Given the description of an element on the screen output the (x, y) to click on. 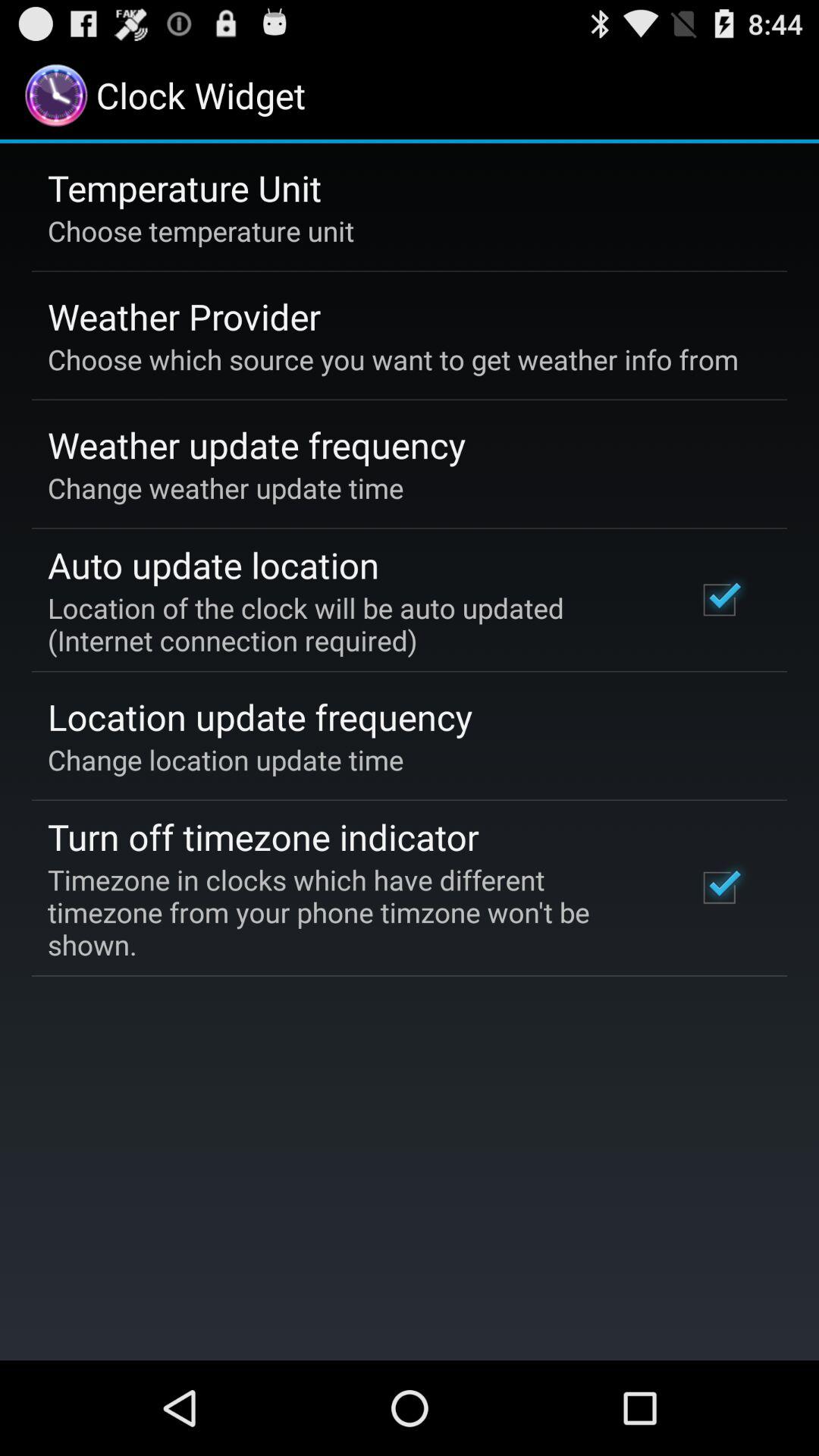
open app below weather provider item (392, 359)
